Given the description of an element on the screen output the (x, y) to click on. 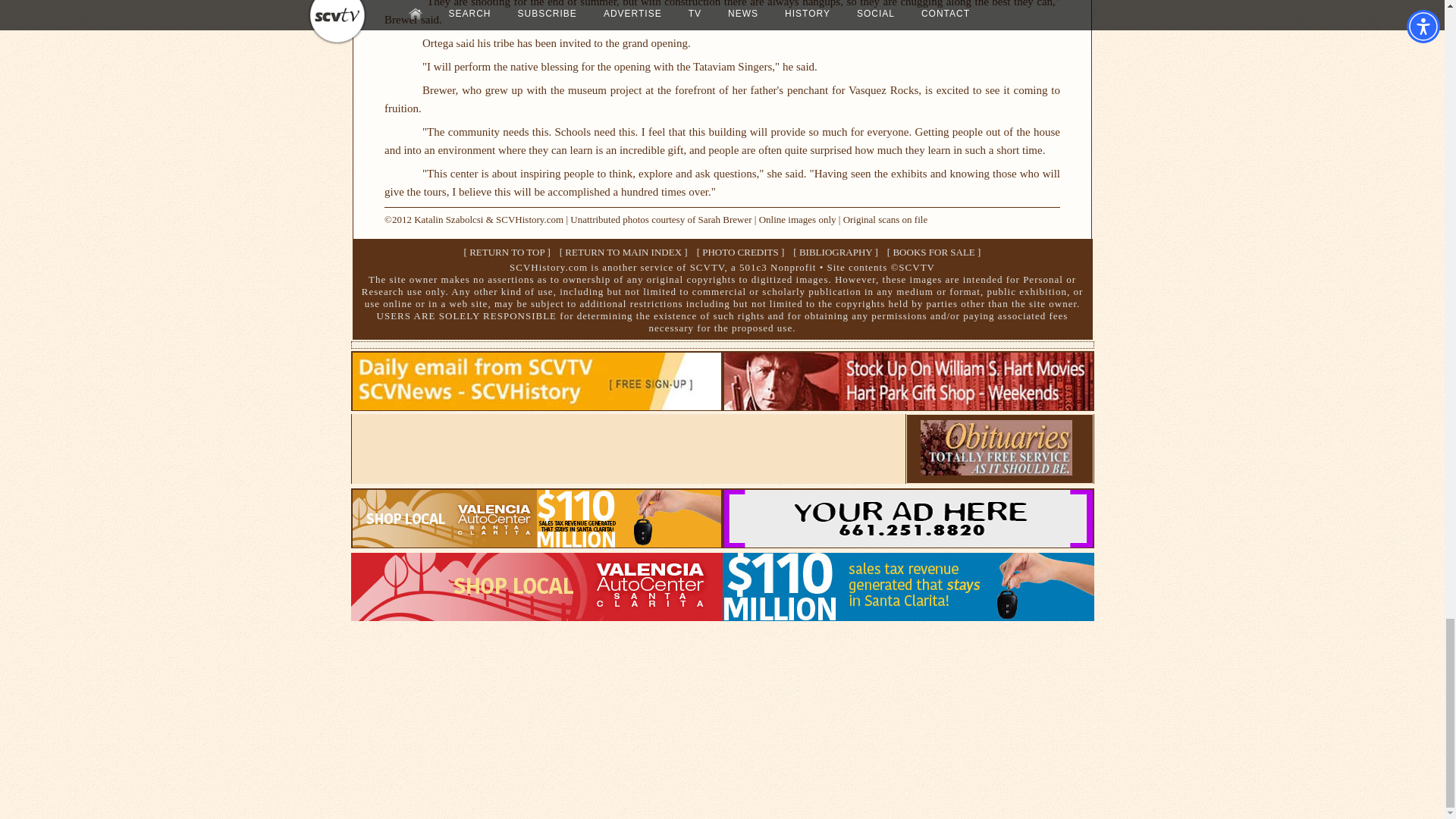
Auto Mall (721, 616)
ADVERTISE ON SCVTV (907, 543)
Hart Park Gift Shop (907, 405)
Auto Mall (536, 543)
Obituaries (995, 471)
Eletter (536, 405)
